Given the description of an element on the screen output the (x, y) to click on. 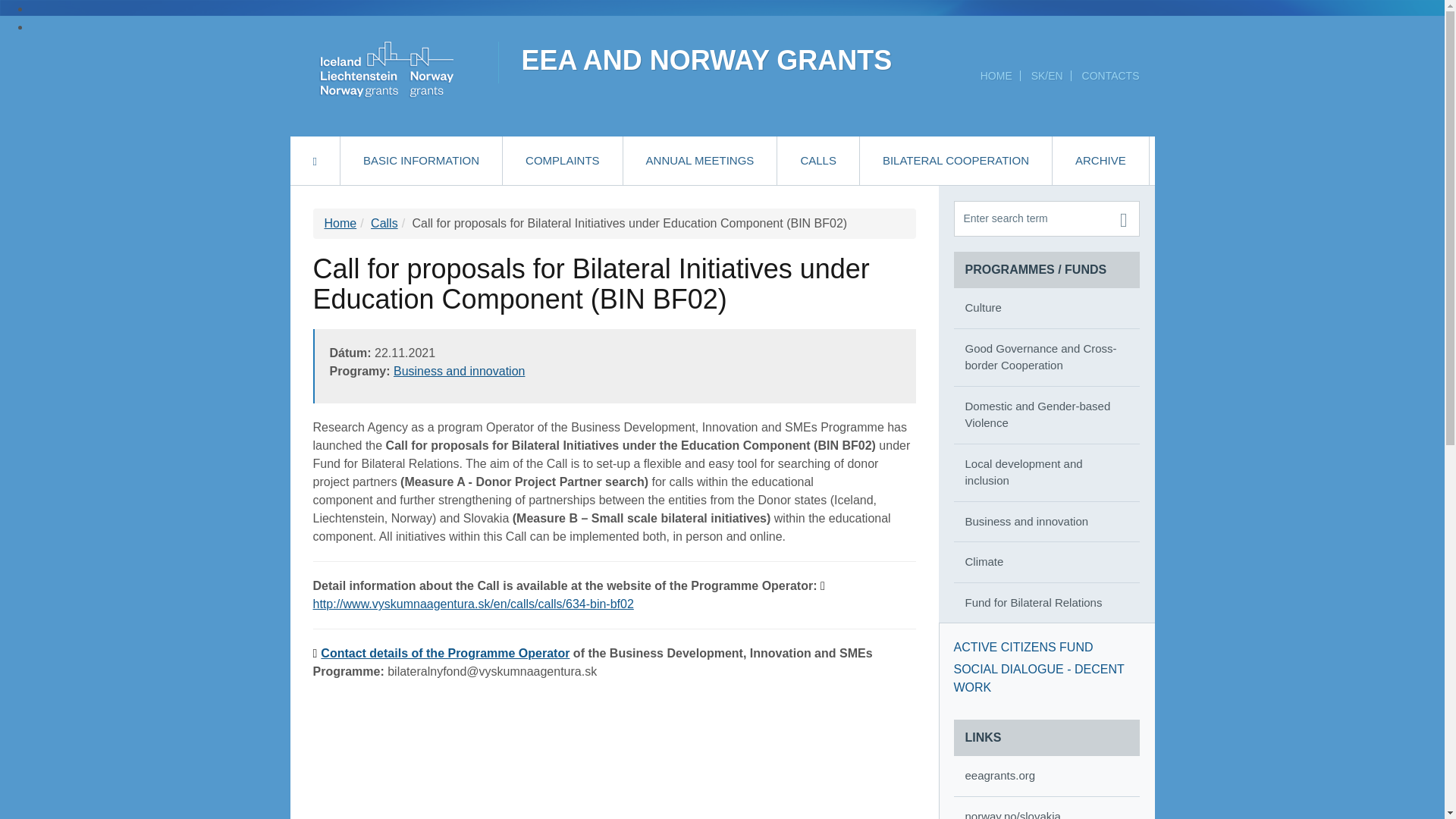
HOME (995, 75)
Climate (1046, 562)
Good Governance and Cross-border Cooperation (1046, 357)
Contact details of the Programme Operator (441, 653)
BASIC INFORMATION (421, 160)
Culture (1046, 308)
BILATERAL COOPERATION (955, 160)
Home (340, 223)
Domestic and Gender-based Violence (1046, 414)
Local development and inclusion (1046, 472)
